Given the description of an element on the screen output the (x, y) to click on. 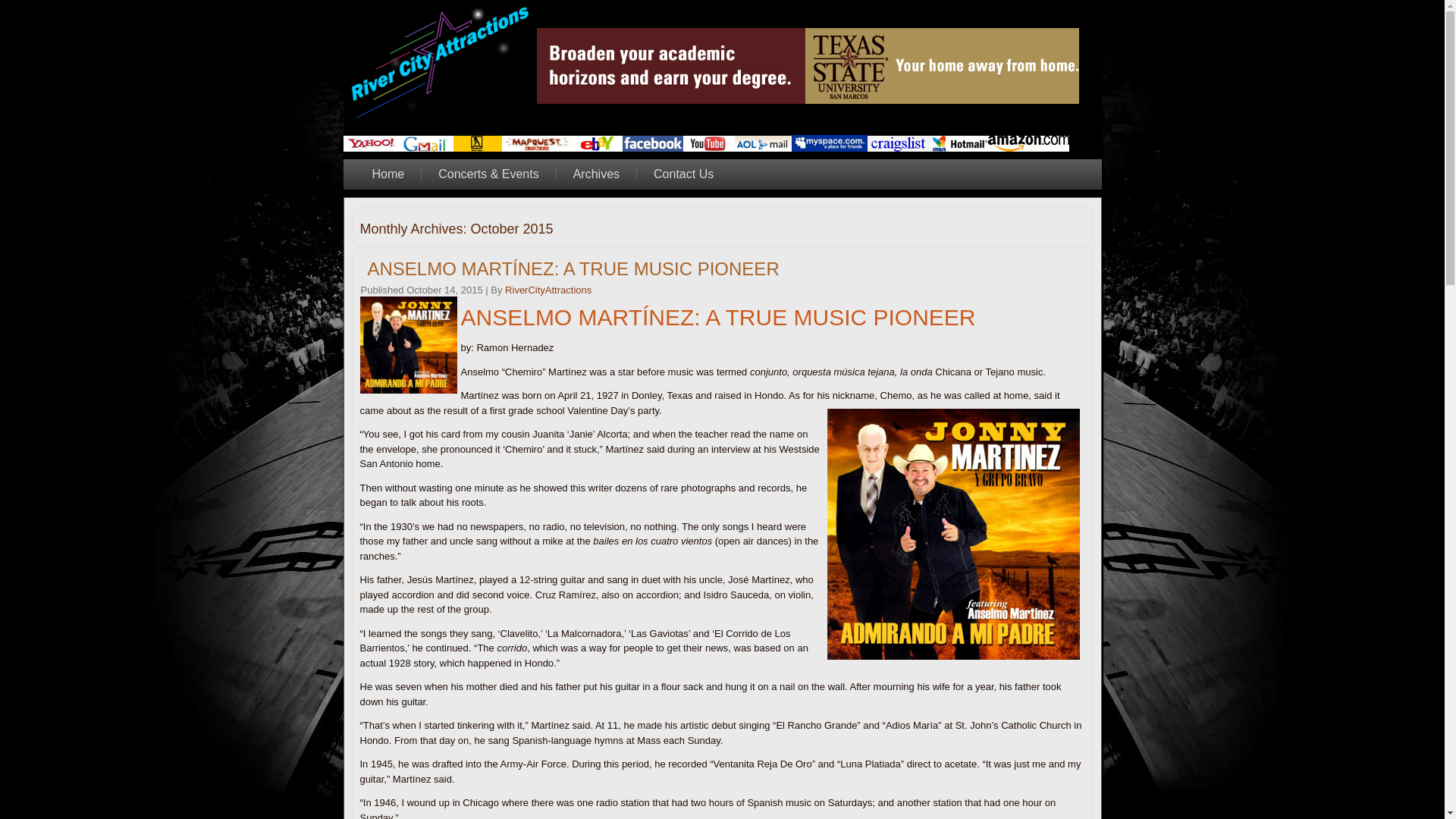
Amazon.com (1027, 143)
Craigslist (899, 143)
Home (387, 174)
Hotmail (959, 143)
Home (387, 174)
logo (440, 64)
Contact Us (683, 174)
Yahoo (370, 143)
YouTube (707, 143)
MySpace (829, 143)
